Given the description of an element on the screen output the (x, y) to click on. 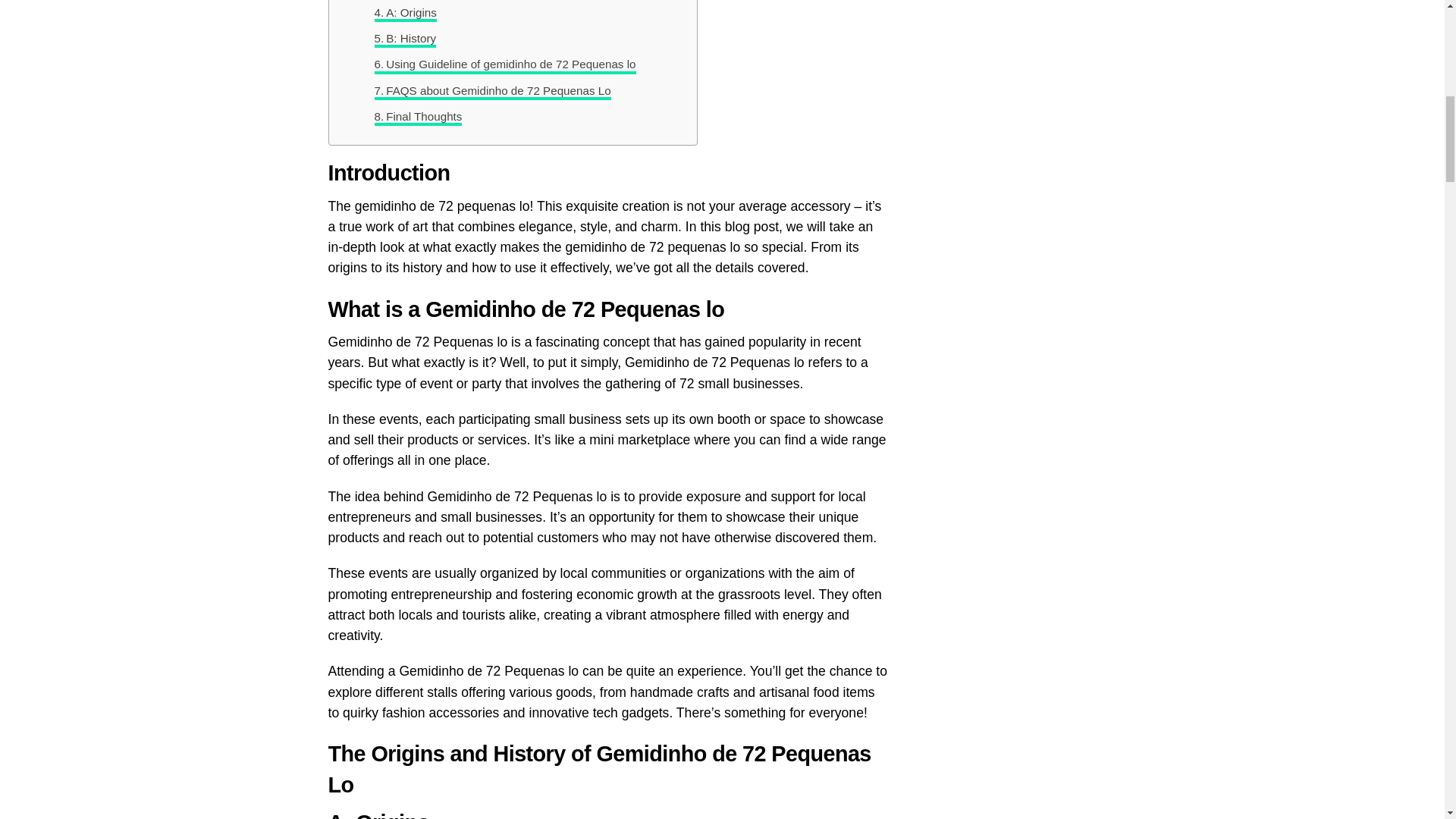
Final Thoughts (418, 116)
FAQS about Gemidinho de 72 Pequenas Lo (492, 90)
Using Guideline of gemidinho de 72 Pequenas lo (505, 64)
A: Origins (405, 13)
B: History (405, 38)
